Given the description of an element on the screen output the (x, y) to click on. 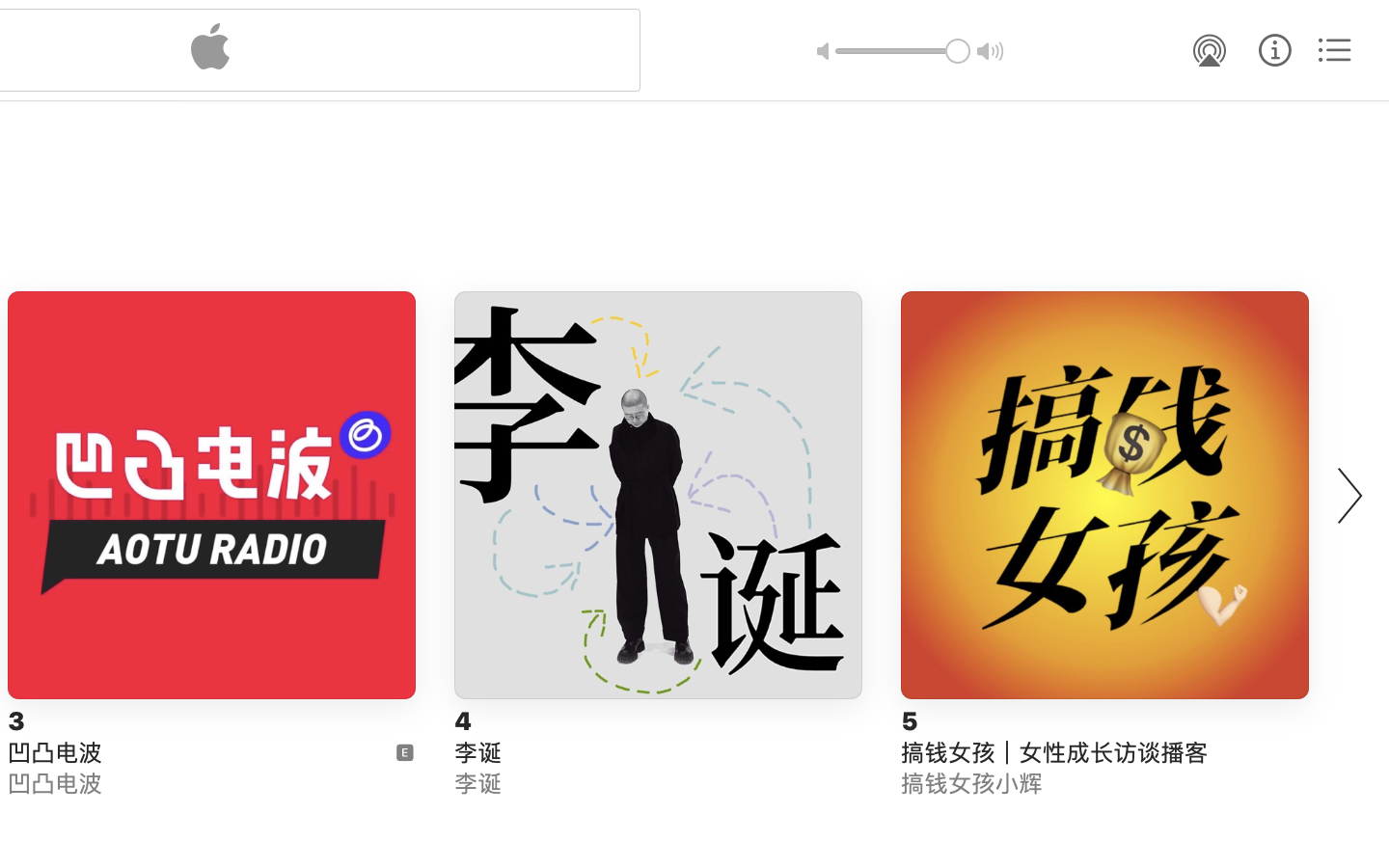
1.0 Element type: AXSlider (902, 50)
